Given the description of an element on the screen output the (x, y) to click on. 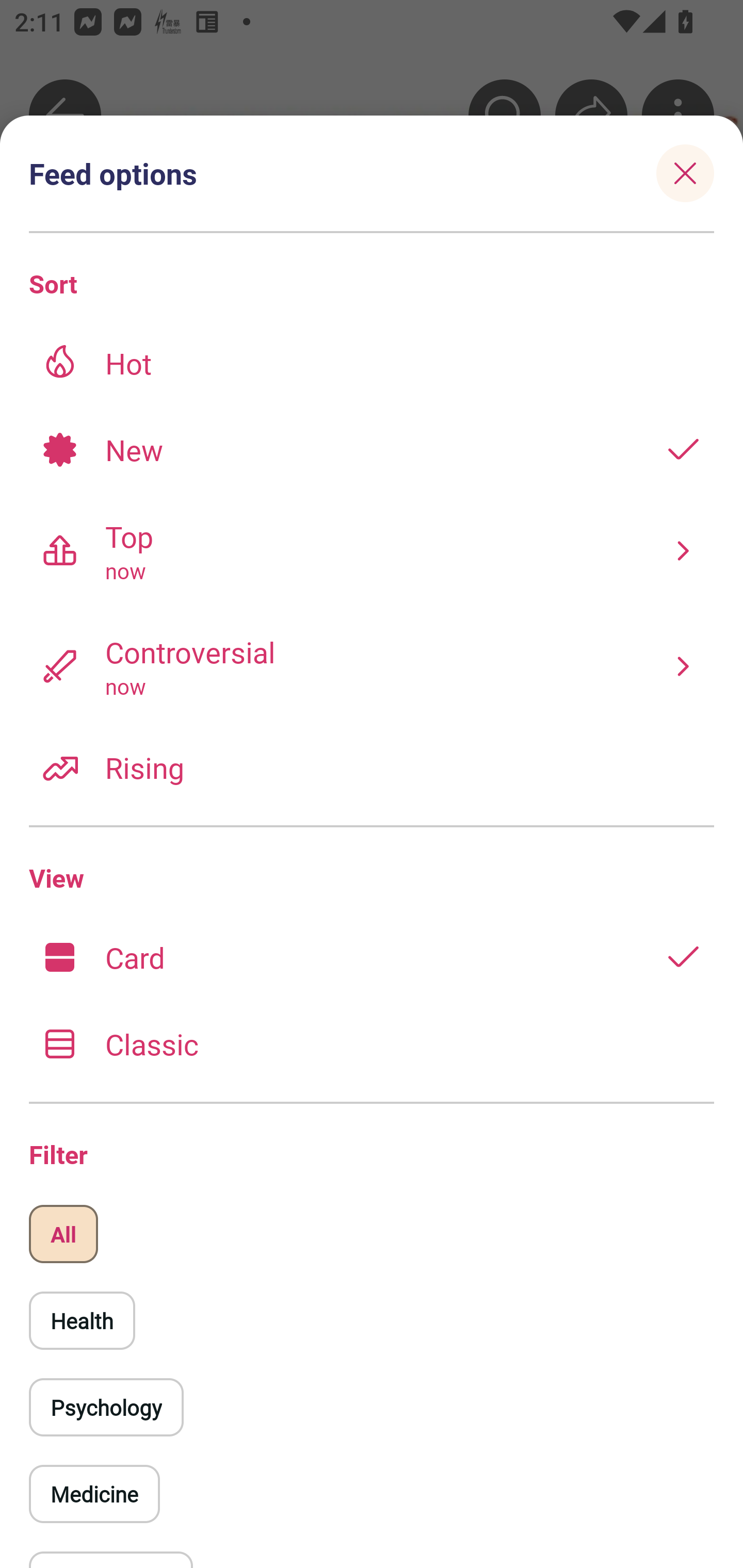
Close sheet (684, 173)
Hot (371, 362)
New (371, 449)
Environment (681, 449)
Top now (371, 550)
Controversial now (371, 666)
Rising (371, 767)
Card (371, 957)
Classic (371, 1043)
All (63, 1233)
Health (81, 1320)
Psychology (105, 1407)
Medicine (93, 1493)
